Given the description of an element on the screen output the (x, y) to click on. 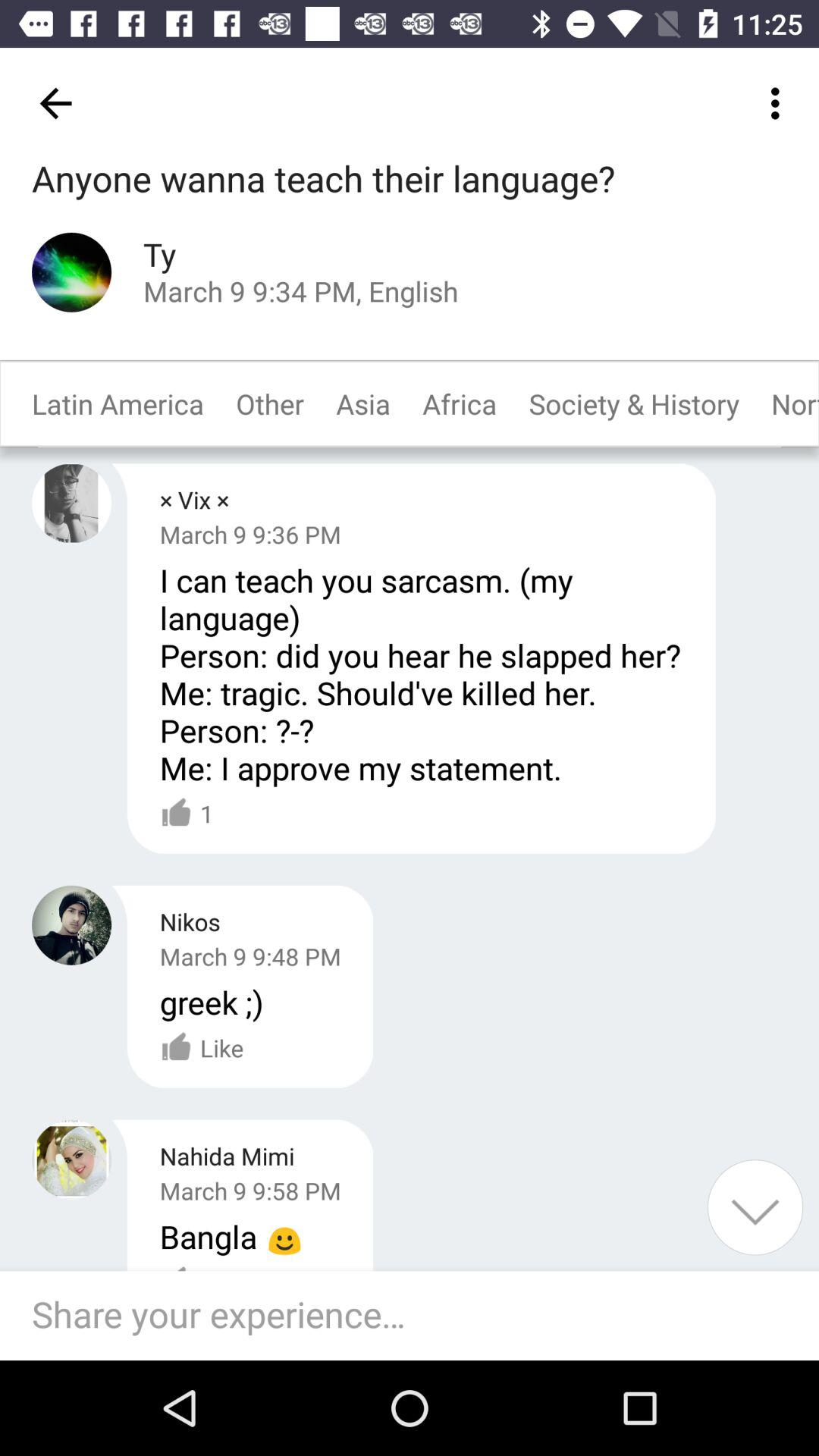
comment your experience (417, 1315)
